Given the description of an element on the screen output the (x, y) to click on. 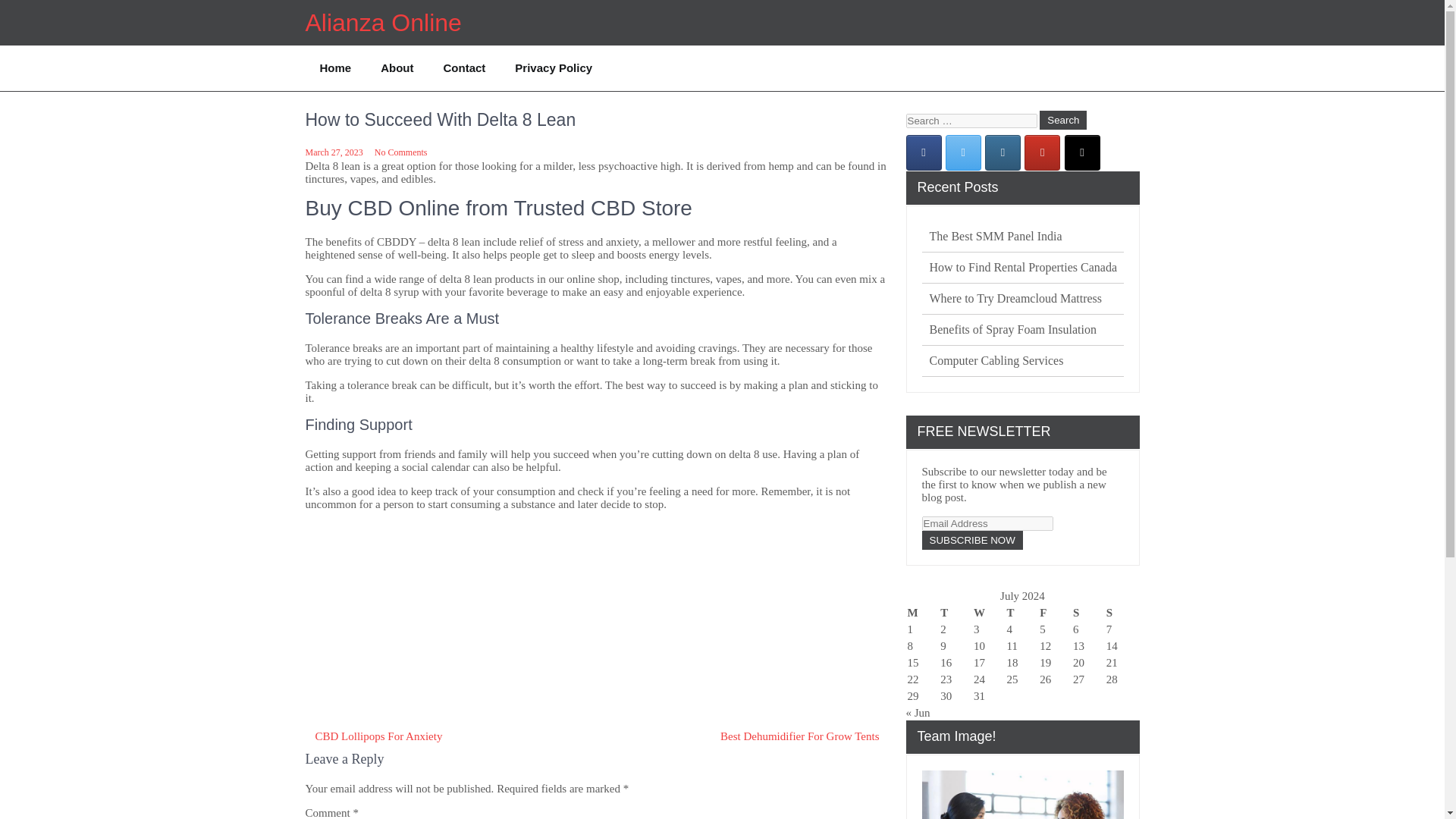
Where to Try Dreamcloud Mattress (1016, 298)
Alianza Online on X Twitter (962, 152)
About (396, 67)
The Best SMM Panel India (996, 236)
Tuesday (956, 612)
CBD Lollipops For Anxiety (377, 736)
Alianza Online on Tiktok (1082, 152)
Privacy Policy (553, 67)
18 (1012, 662)
Saturday (1089, 612)
10 (979, 645)
Home (335, 67)
Alianza Online on Facebook (922, 152)
SUBSCRIBE NOW (972, 539)
SUBSCRIBE NOW (972, 539)
